Given the description of an element on the screen output the (x, y) to click on. 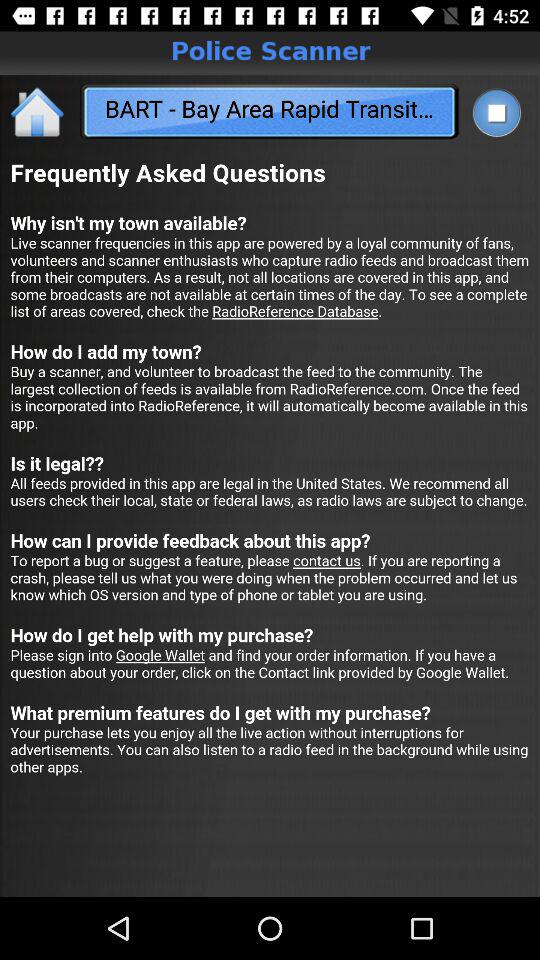
toggle menu (496, 111)
